Given the description of an element on the screen output the (x, y) to click on. 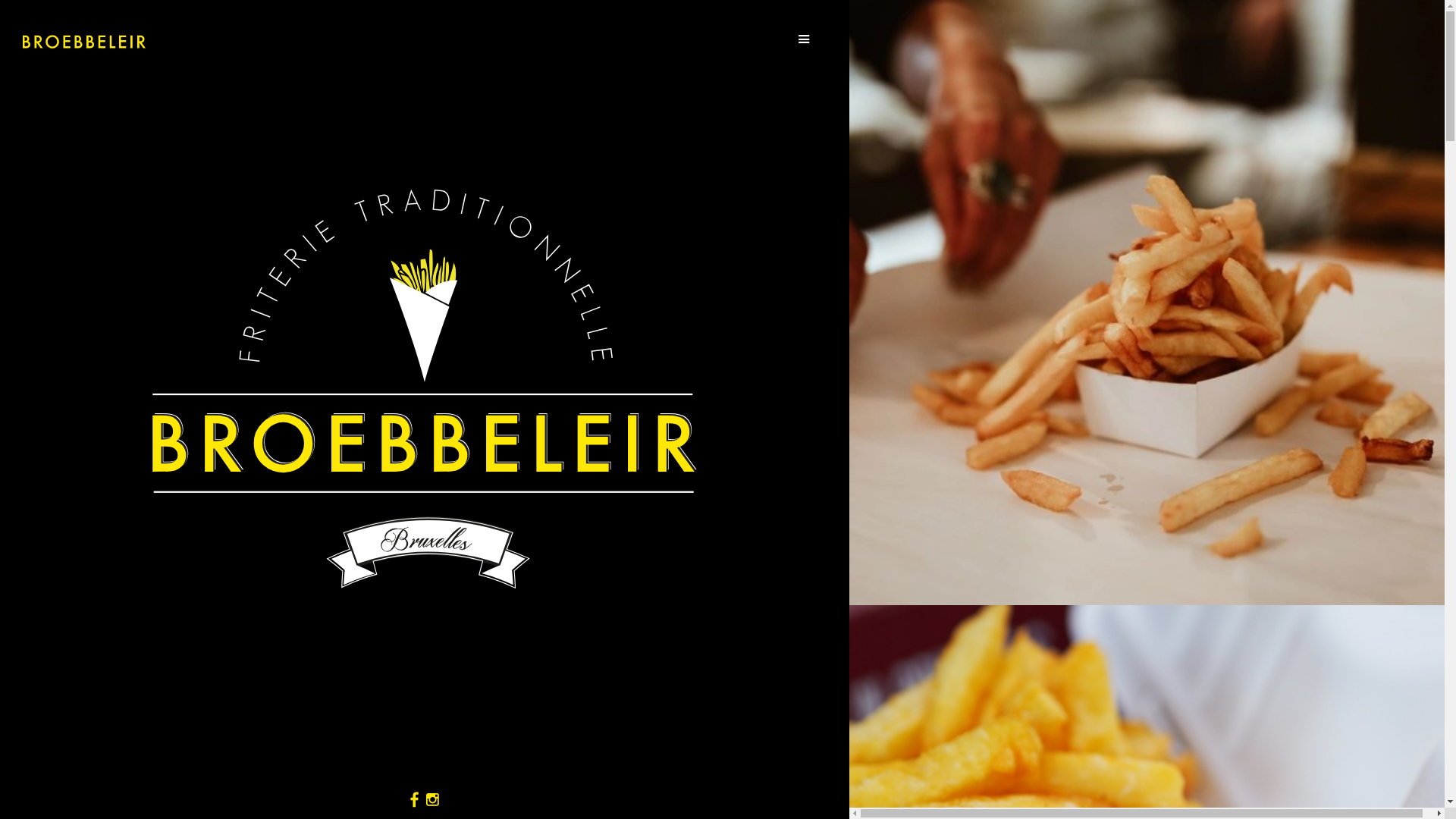
Envoyer Element type: text (75, 17)
